Given the description of an element on the screen output the (x, y) to click on. 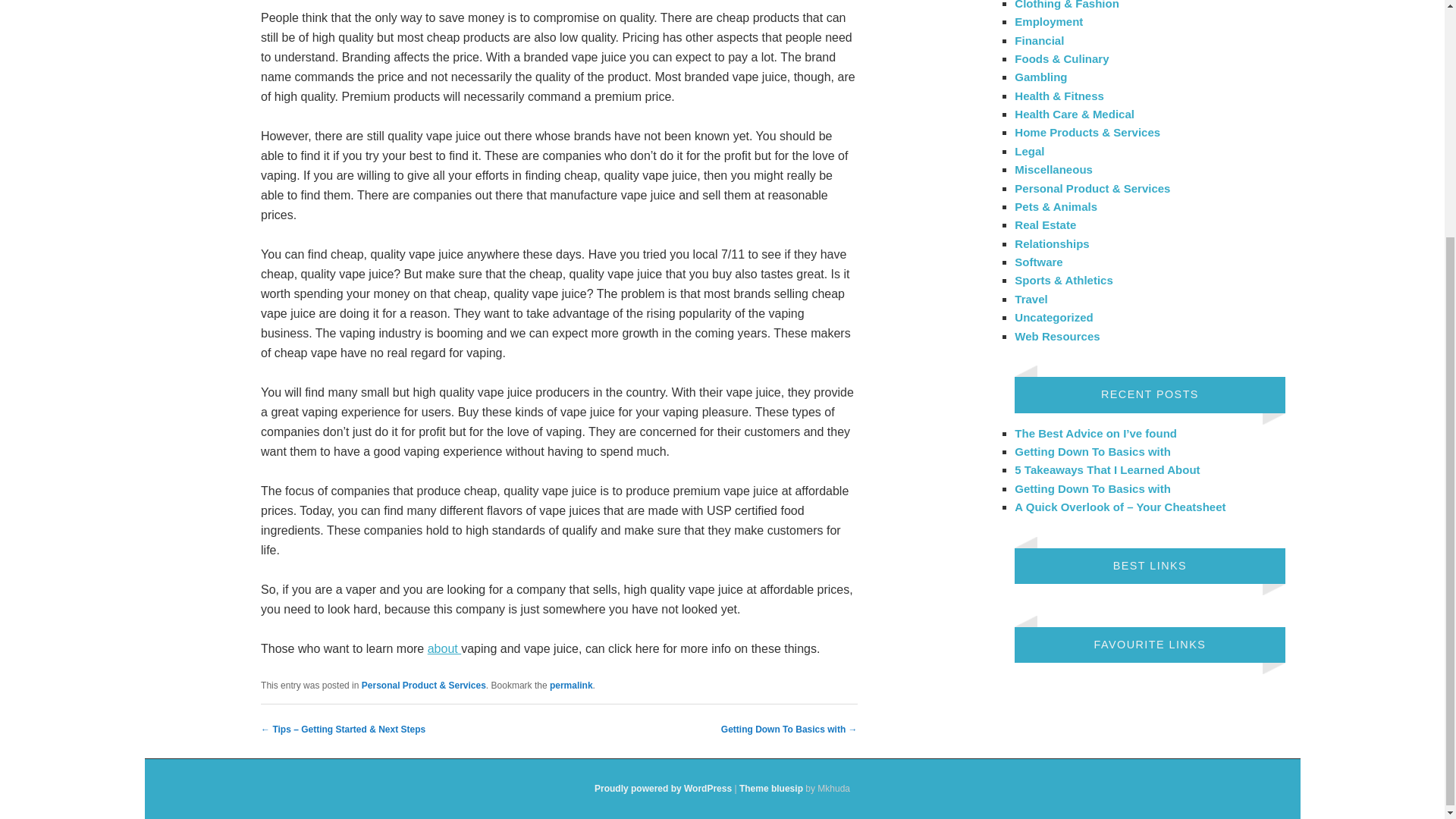
Relationships (1051, 243)
about (444, 648)
Legal (1028, 151)
Web Resources (1056, 335)
Getting Down To Basics with (1092, 451)
permalink (571, 685)
Mkhuda (771, 787)
A Semantic Personal Publishing Platform (663, 787)
Miscellaneous (1053, 169)
Software (1038, 261)
Employment (1048, 21)
Travel (1030, 298)
Uncategorized (1053, 317)
Permalink to Why People Think  Are A Good Idea (571, 685)
Gambling (1040, 76)
